Given the description of an element on the screen output the (x, y) to click on. 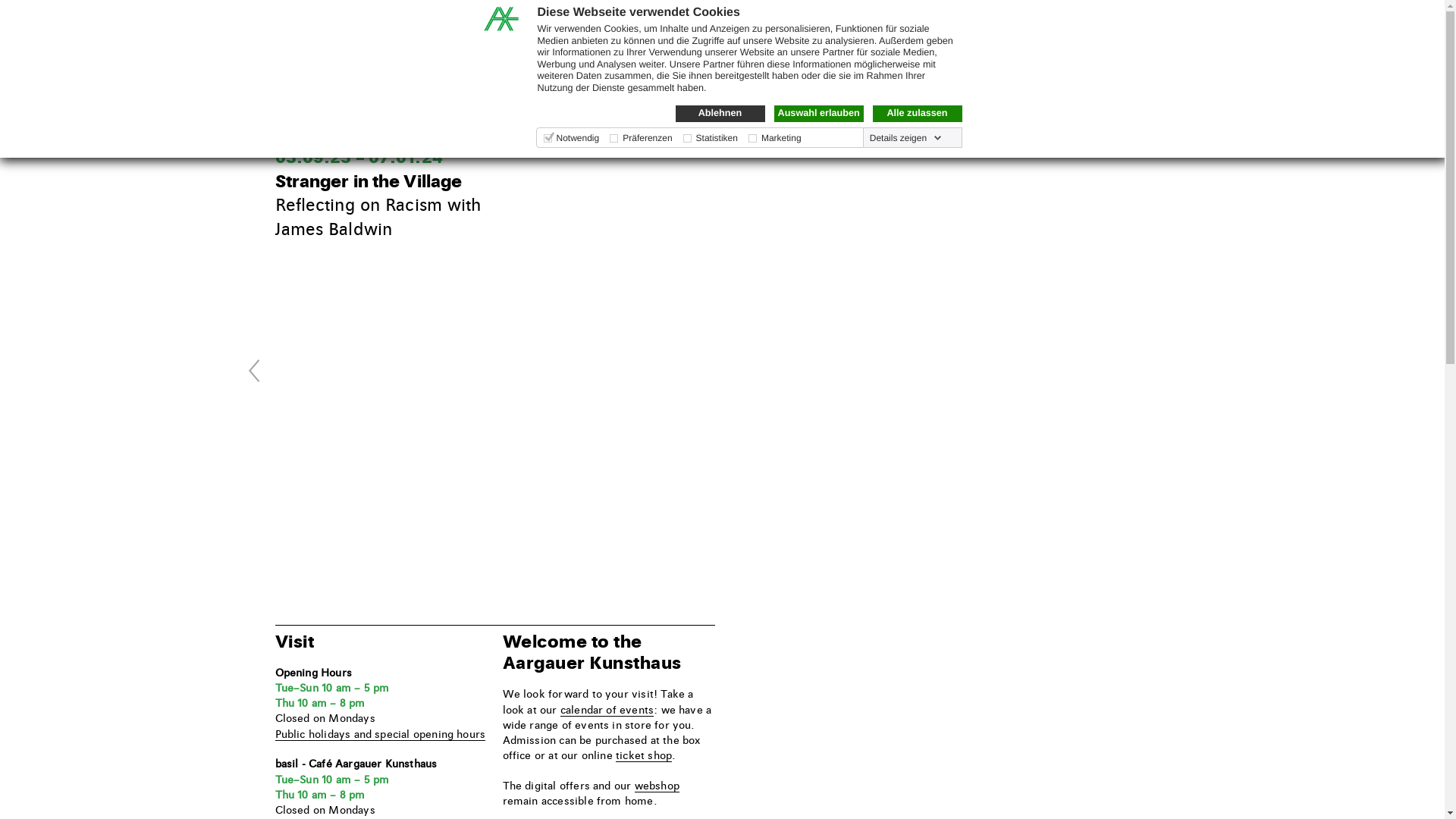
Auswahl erlauben Element type: text (817, 113)
Details zeigen Element type: text (905, 137)
Public holidays and special opening hours Element type: text (379, 734)
Aargauer Kunsthaus Element type: hover (347, 65)
I Element type: text (1093, 23)
calendar of events Element type: text (606, 710)
webshop Element type: text (656, 786)
ticket shop Element type: text (643, 755)
D Element type: text (1037, 23)
YouTube video player Element type: hover (714, 265)
E Element type: text (1057, 23)
Ablehnen Element type: text (719, 113)
F Element type: text (1075, 23)
Alle zulassen Element type: text (916, 113)
